Given the description of an element on the screen output the (x, y) to click on. 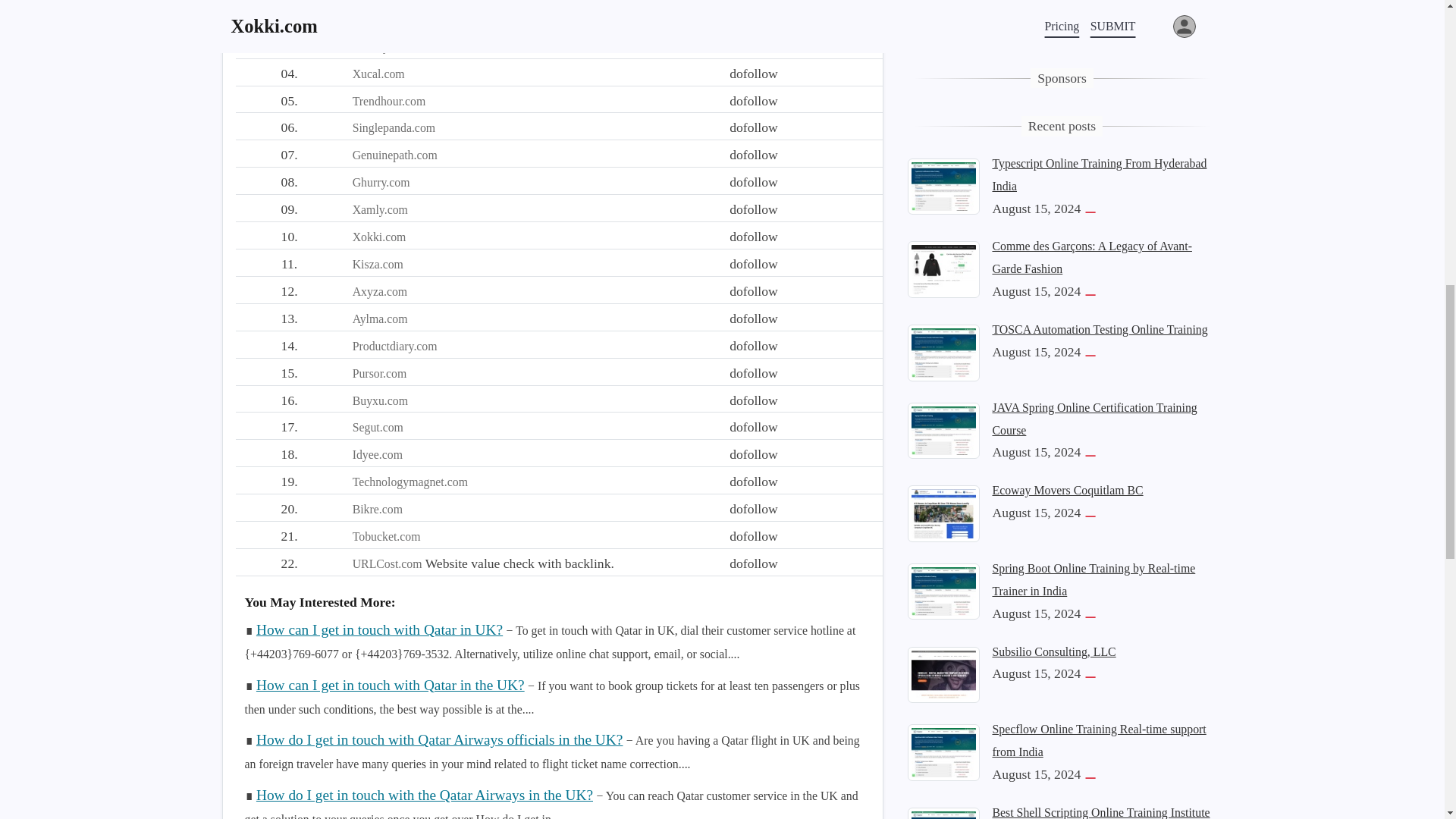
Productdiary.com (395, 345)
Kisza.com (377, 264)
Buyxu.com (379, 400)
Ghurry.com (381, 182)
Pursor.com (379, 373)
Xokki.com (379, 236)
How do I get in touch with the Qatar Airways in the UK? (424, 795)
Genuinepath.com (395, 154)
Lieel.com (376, 19)
Aylma.com (379, 318)
